Given the description of an element on the screen output the (x, y) to click on. 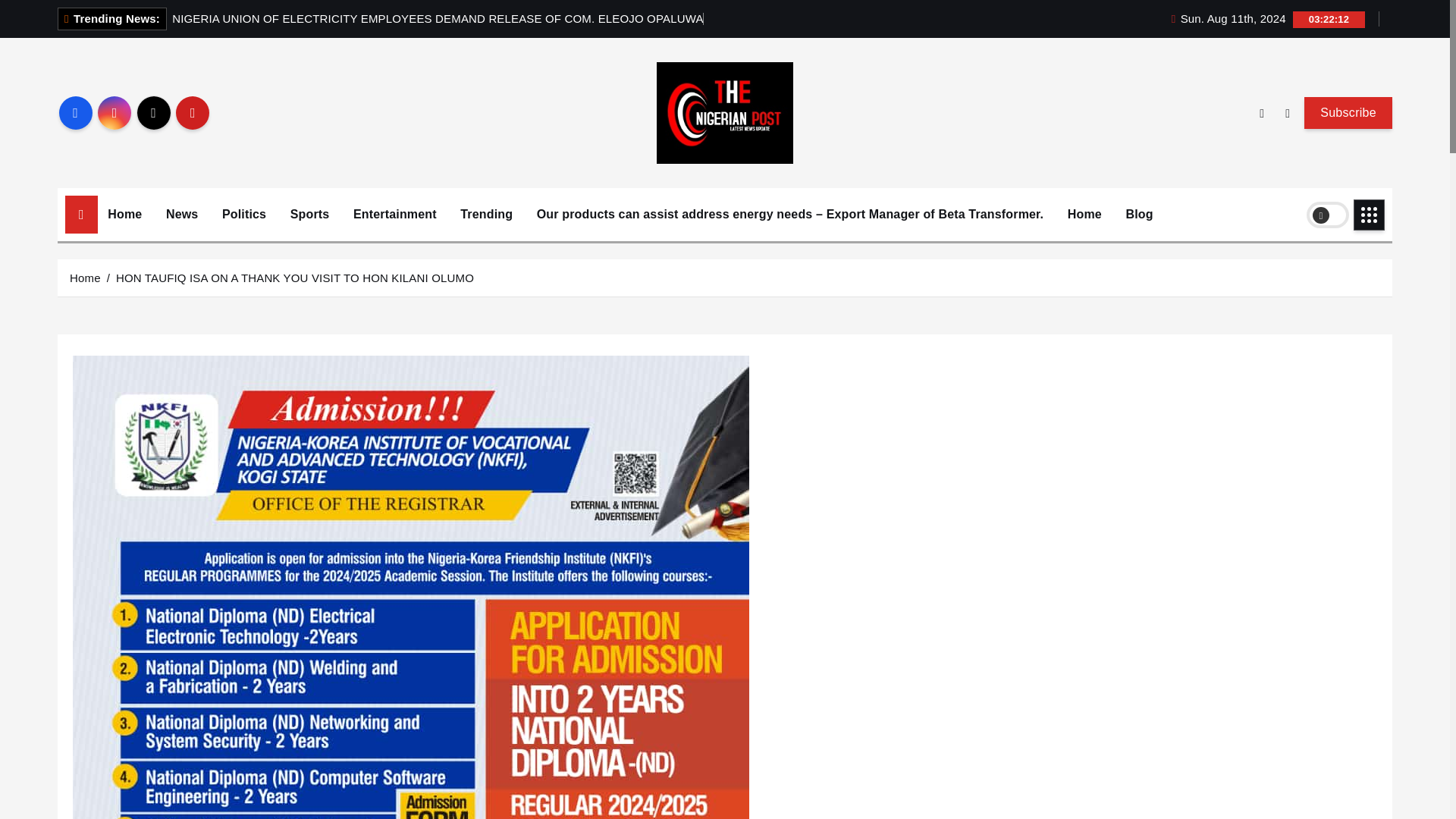
News (181, 214)
Home (1085, 214)
Entertainment (394, 214)
Blog (1139, 214)
Politics (244, 214)
Politics (244, 214)
Blog (1139, 214)
Home (124, 214)
Entertainment (394, 214)
Sports (310, 214)
